Given the description of an element on the screen output the (x, y) to click on. 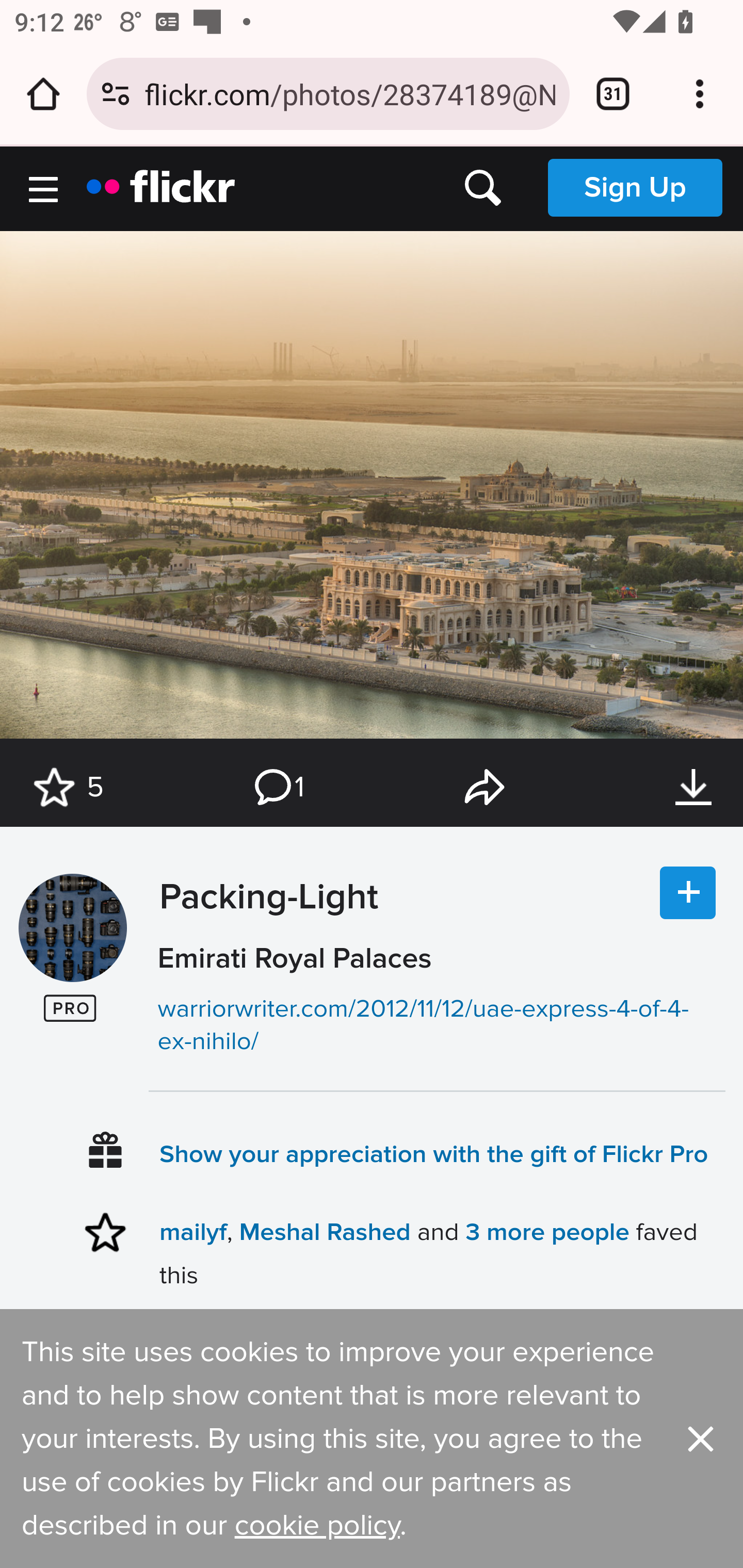
Open the home page (43, 93)
Connection is secure (115, 93)
Switch or close tabs (612, 93)
Customize and control Google Chrome (699, 93)
flickr.com/photos/28374189@N06/8180345851 (349, 92)
Sign Up Sign Up Sign Up (634, 187)
1 (277, 787)
Download this photo (692, 787)
Follow (687, 893)
isaacpacheco (72, 928)
Show your appreciation with the gift of Flickr Pro (434, 1152)
mailyf (193, 1232)
Meshal Rashed (324, 1232)
3 more people (546, 1232)
